Given the description of an element on the screen output the (x, y) to click on. 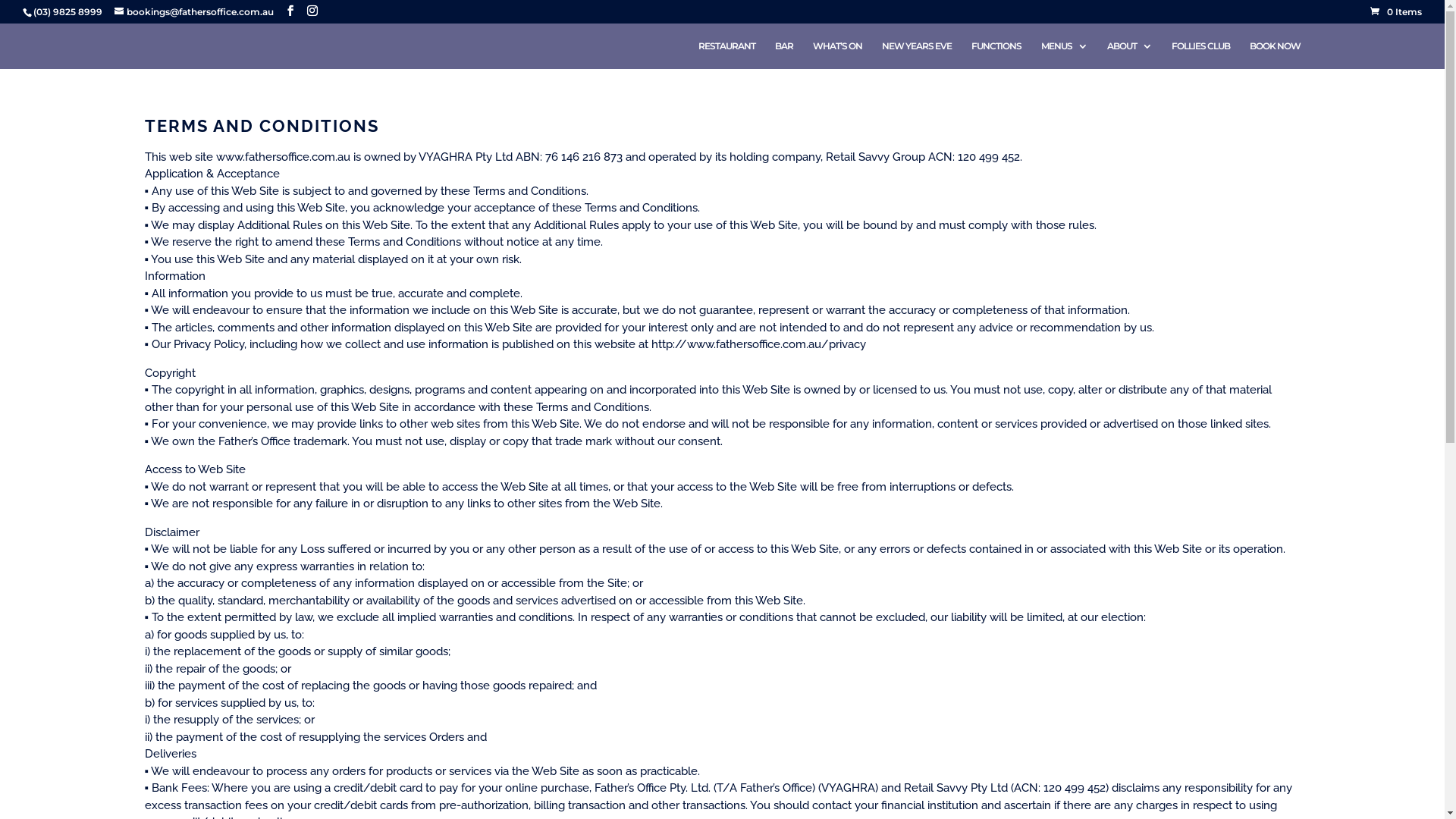
RESTAURANT Element type: text (725, 54)
0 Items Element type: text (1395, 11)
FOLLIES CLUB Element type: text (1199, 54)
BOOK NOW Element type: text (1274, 54)
NEW YEARS EVE Element type: text (915, 54)
ABOUT Element type: text (1129, 54)
MENUS Element type: text (1063, 54)
bookings@fathersoffice.com.au Element type: text (193, 11)
FUNCTIONS Element type: text (995, 54)
BAR Element type: text (784, 54)
